Given the description of an element on the screen output the (x, y) to click on. 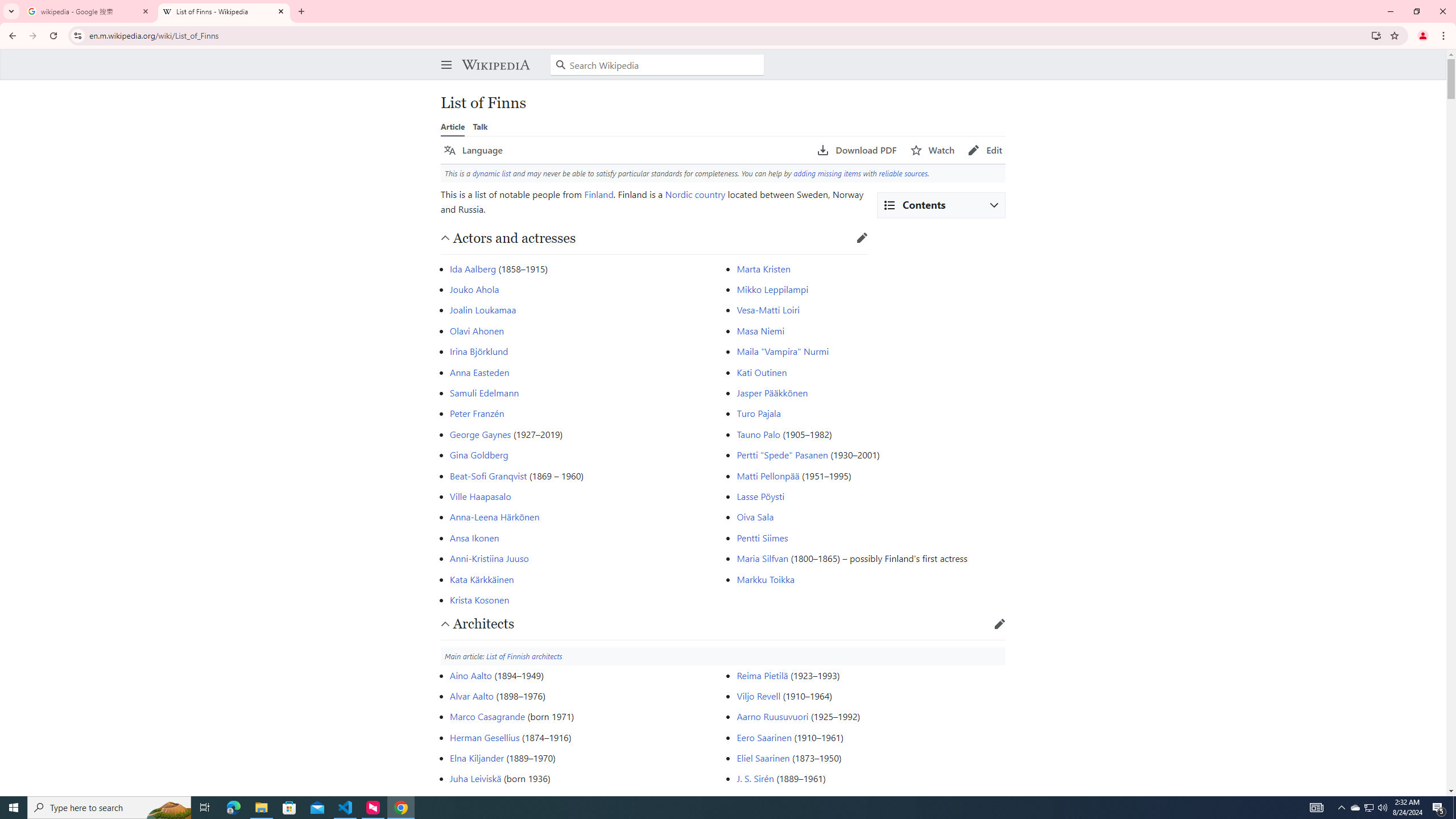
Nordic country (695, 193)
Samuli Edelmann (484, 392)
Talk (480, 126)
Aino Aalto (470, 675)
Oiva Sala (755, 517)
Vesa-Matti Loiri (767, 309)
Watch (932, 149)
Eero Saarinen (764, 736)
Krista Kosonen (479, 599)
AutomationID: main-menu-input (443, 55)
Pertti "Spede" Pasanen (782, 454)
Beat-Sofi Granqvist (488, 475)
Wikipedia (495, 64)
